Given the description of an element on the screen output the (x, y) to click on. 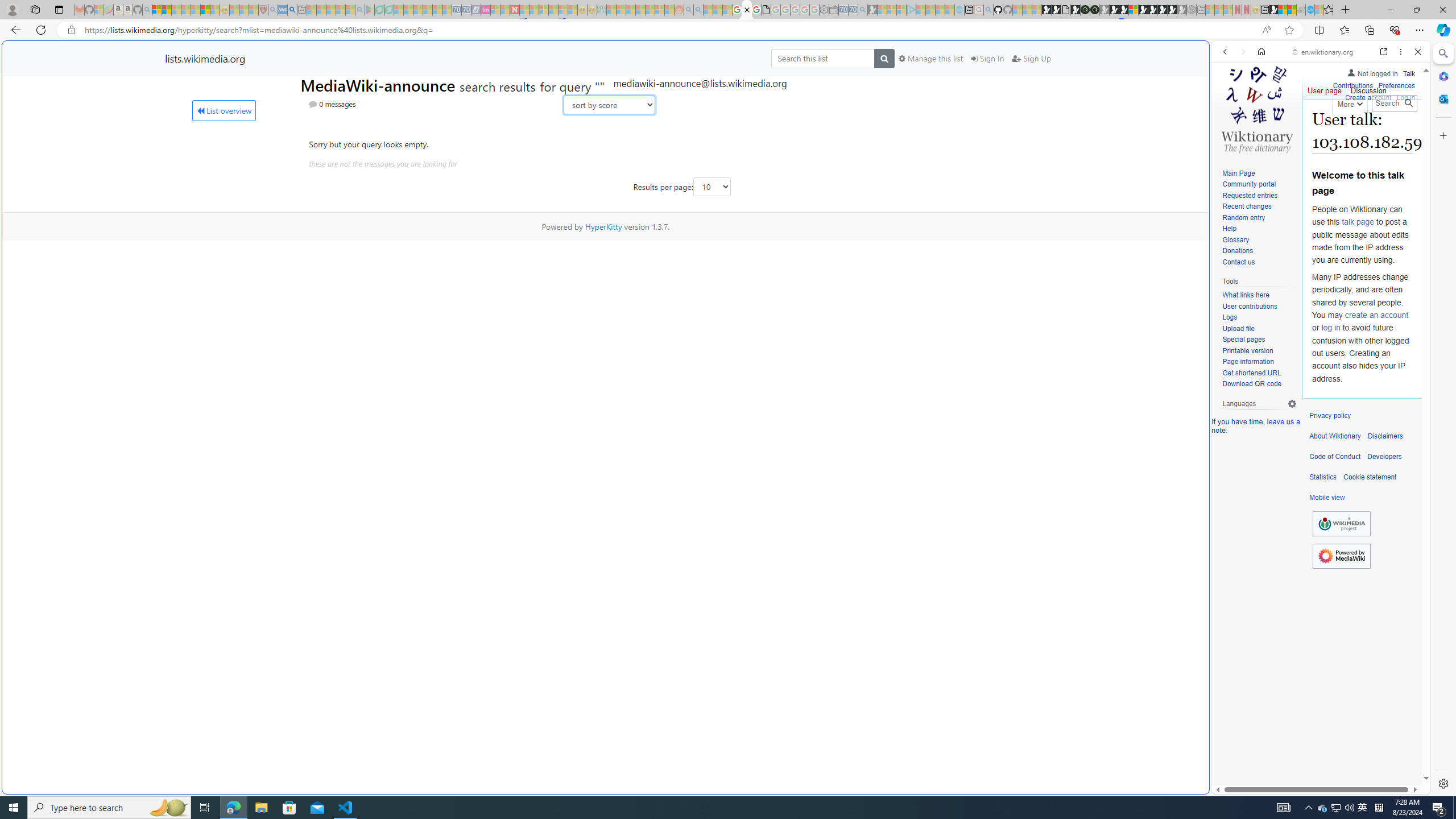
AutomationID: footer-poweredbyico (1341, 555)
Contact us (1238, 261)
AutomationID: footer-copyrightico (1341, 523)
Download QR code (1251, 384)
